Given the description of an element on the screen output the (x, y) to click on. 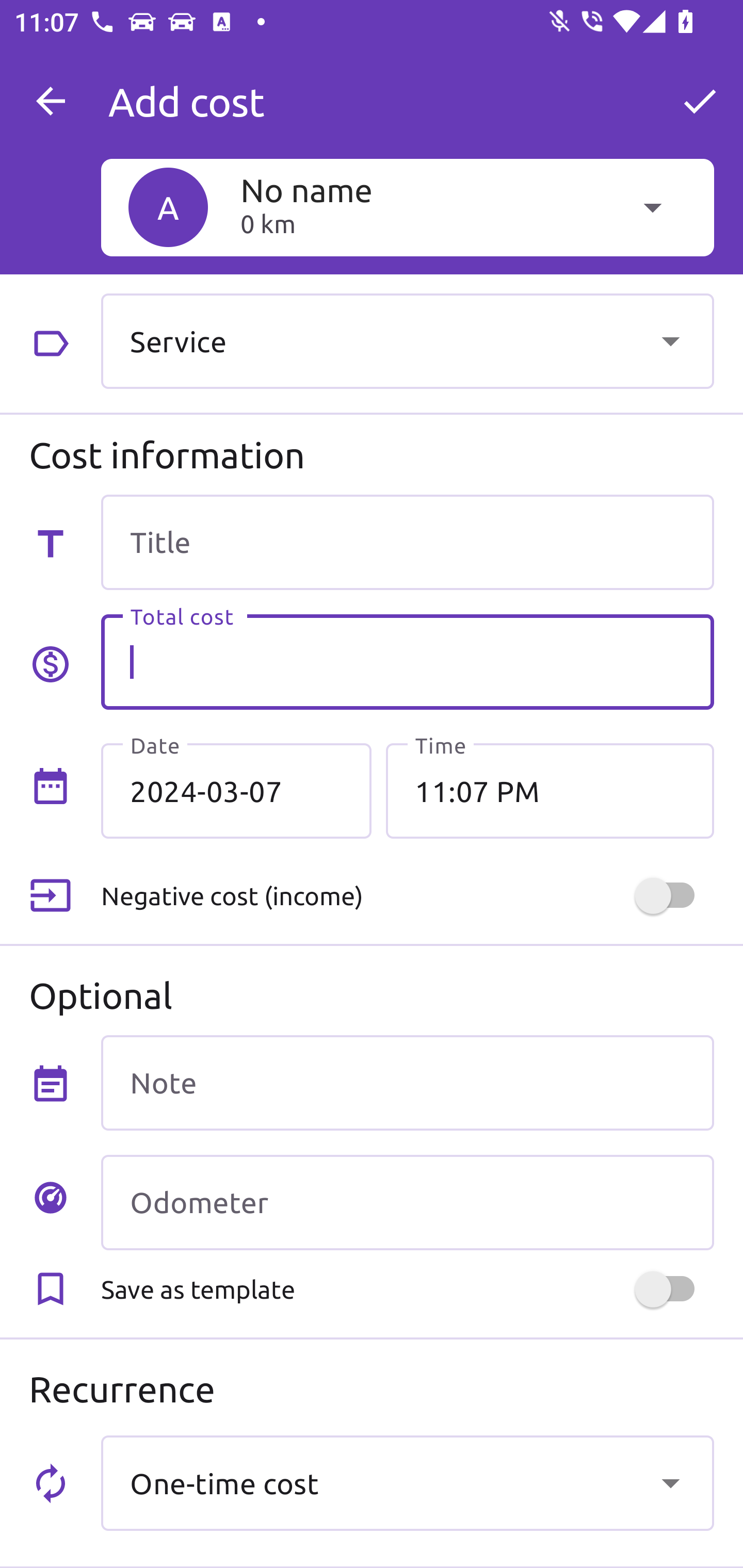
Navigate up (50, 101)
OK (699, 101)
A No name 0 km (407, 206)
Service (407, 340)
Show dropdown menu (670, 340)
Title (407, 541)
Total cost  (407, 662)
2024-03-07 (236, 790)
11:07 PM (549, 790)
Negative cost (income) (407, 895)
Note (407, 1082)
Odometer (407, 1202)
Save as template (407, 1289)
One-time cost (407, 1482)
Show dropdown menu (670, 1482)
